Given the description of an element on the screen output the (x, y) to click on. 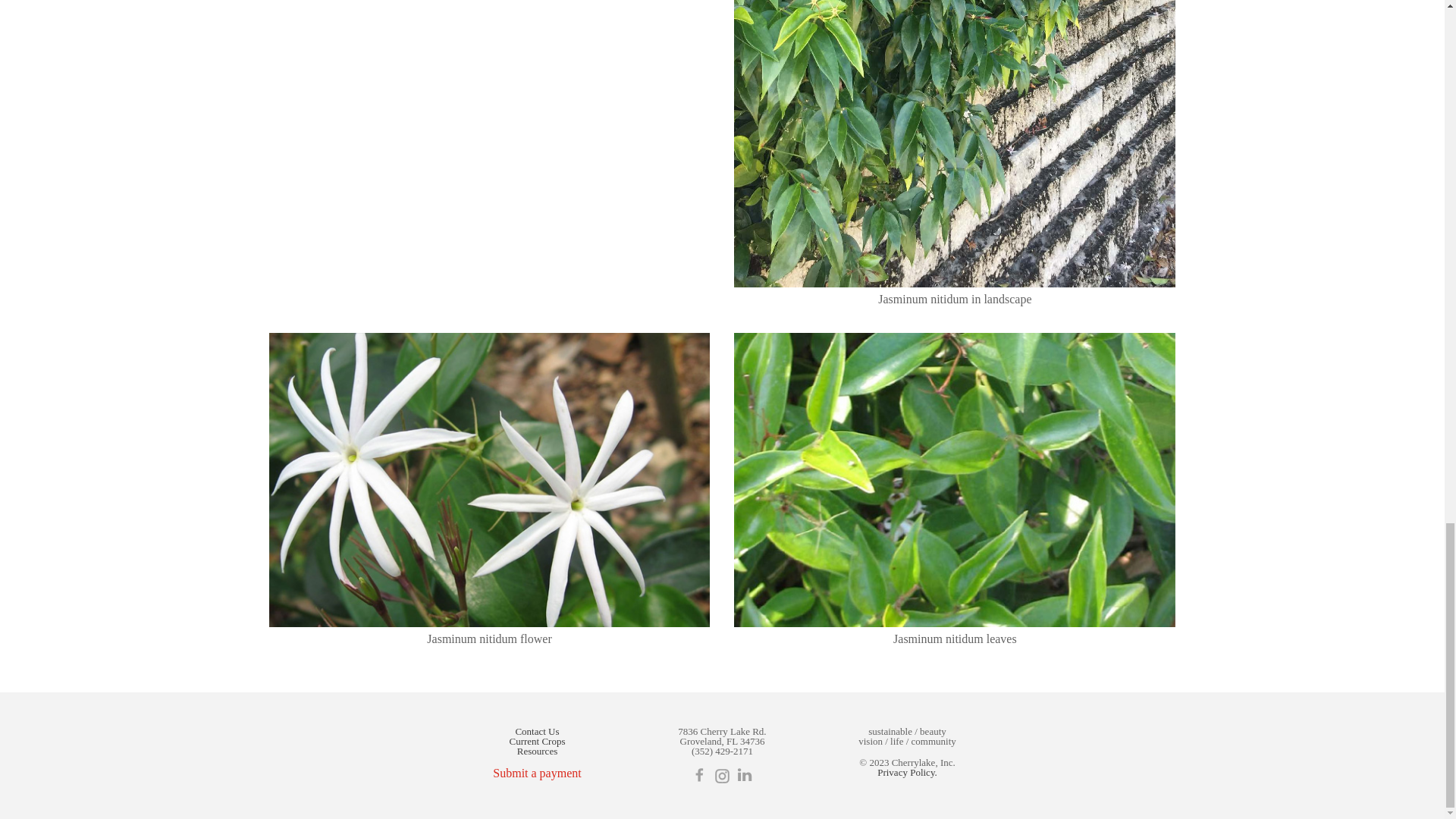
Submit a payment (536, 772)
Privacy Policy. (907, 772)
Contact Us (537, 731)
Resources (536, 750)
Current Crops (536, 740)
